Given the description of an element on the screen output the (x, y) to click on. 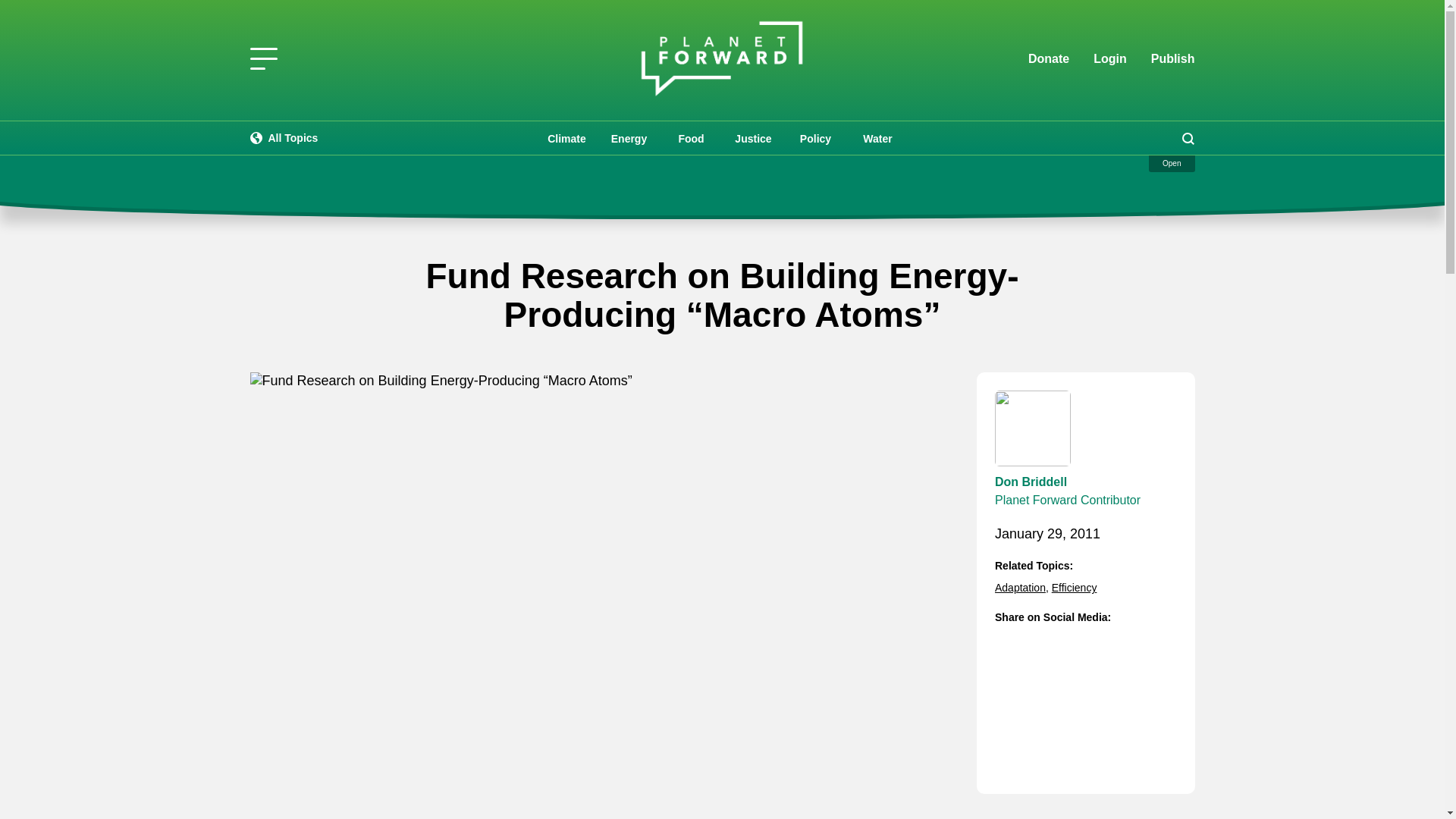
Climate (565, 137)
Justice (753, 137)
Policy (814, 137)
All Topics (284, 138)
Water (876, 137)
Food (690, 137)
Energy (627, 137)
Login (1109, 58)
Donate (1047, 58)
Publish (1173, 58)
